Given the description of an element on the screen output the (x, y) to click on. 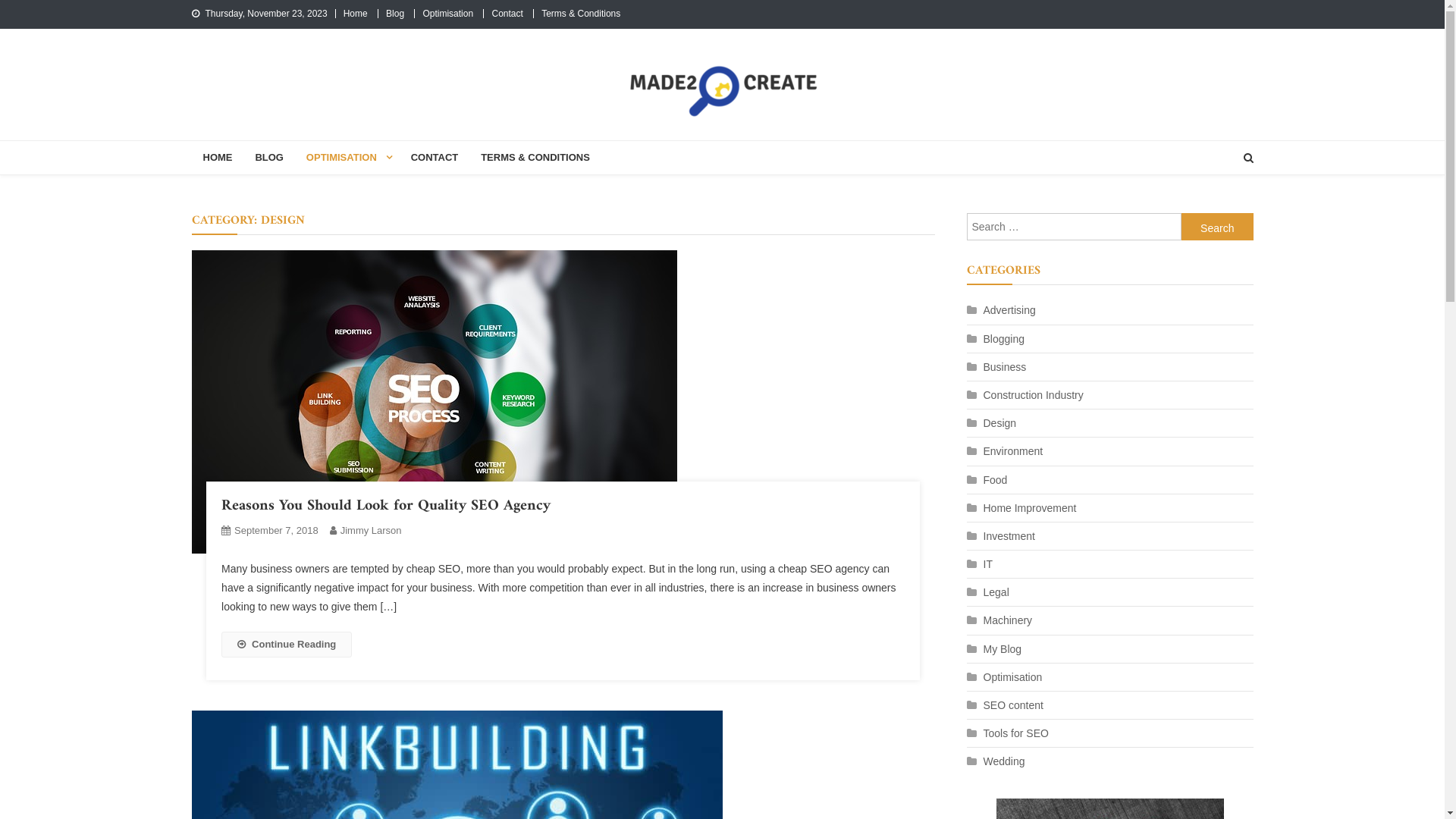
Home Improvement Element type: text (1021, 507)
Optimisation Element type: text (447, 13)
OPTIMISATION Element type: text (346, 157)
Construction Industry Element type: text (1024, 394)
Skip to content Element type: text (35, 9)
BLOG Element type: text (268, 157)
Search Element type: text (1221, 210)
Jimmy Larson Element type: text (370, 530)
Blogging Element type: text (995, 338)
Advertising Element type: text (1000, 310)
Search Element type: text (1217, 226)
Tools for SEO Element type: text (1007, 733)
HOME Element type: text (217, 157)
My Blog Element type: text (993, 648)
Food Element type: text (986, 479)
Reasons You Should Look for Quality SEO Agency Element type: text (385, 505)
IT Element type: text (978, 564)
Terms & Conditions Element type: text (580, 13)
Made 2 Create Element type: text (273, 139)
Home Element type: text (355, 13)
Machinery Element type: text (999, 620)
SEO content Element type: text (1004, 705)
September 7, 2018 Element type: text (276, 530)
Contact Element type: text (506, 13)
Optimisation Element type: text (1003, 677)
Investment Element type: text (1000, 536)
Business Element type: text (996, 366)
Environment Element type: text (1004, 451)
Wedding Element type: text (995, 761)
CONTACT Element type: text (434, 157)
Blog Element type: text (394, 13)
Design Element type: text (991, 423)
Continue Reading Element type: text (286, 643)
Legal Element type: text (987, 592)
TERMS & CONDITIONS Element type: text (535, 157)
